Given the description of an element on the screen output the (x, y) to click on. 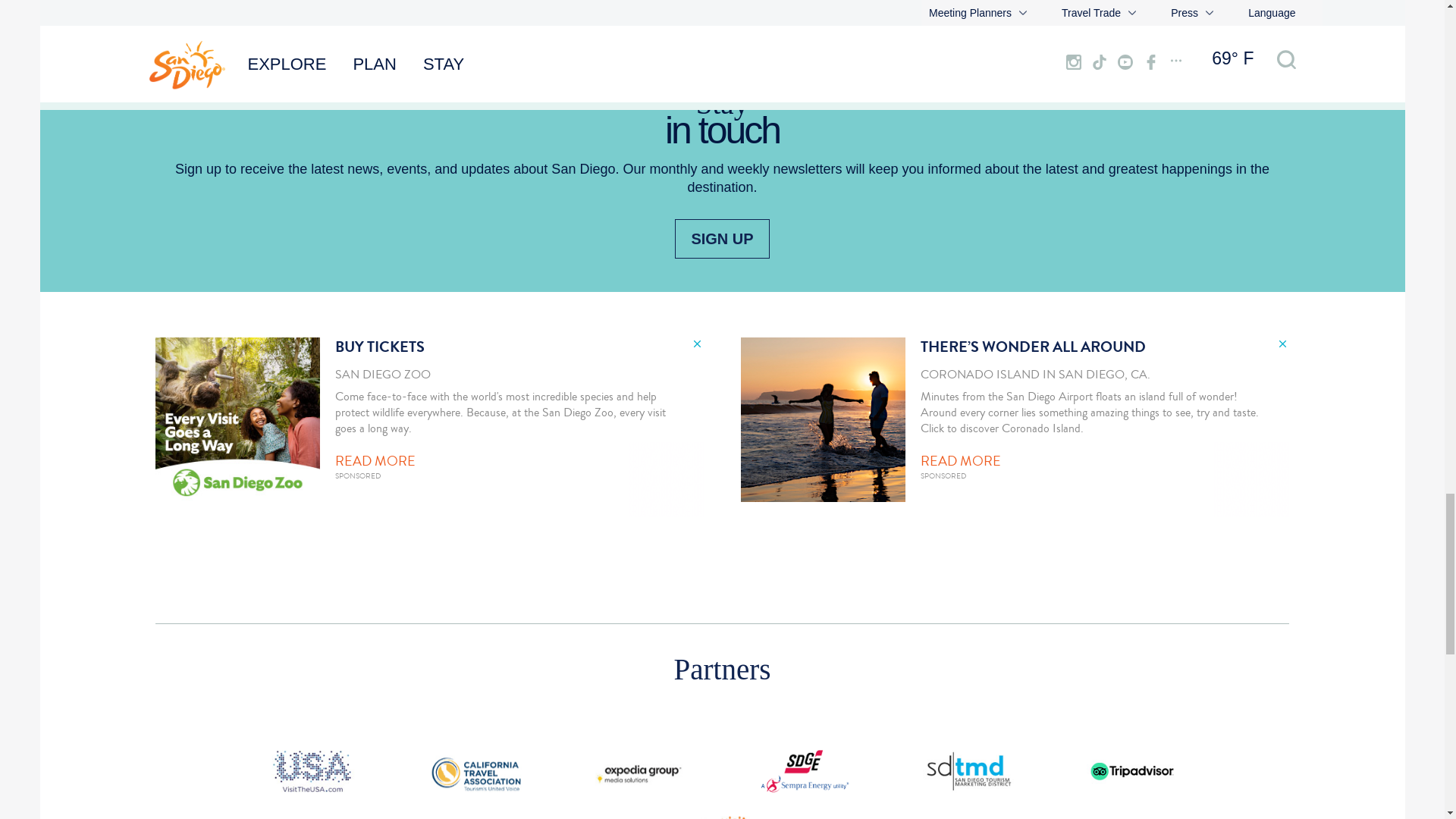
3rd party ad content (1014, 426)
3rd party ad content (429, 426)
